Given the description of an element on the screen output the (x, y) to click on. 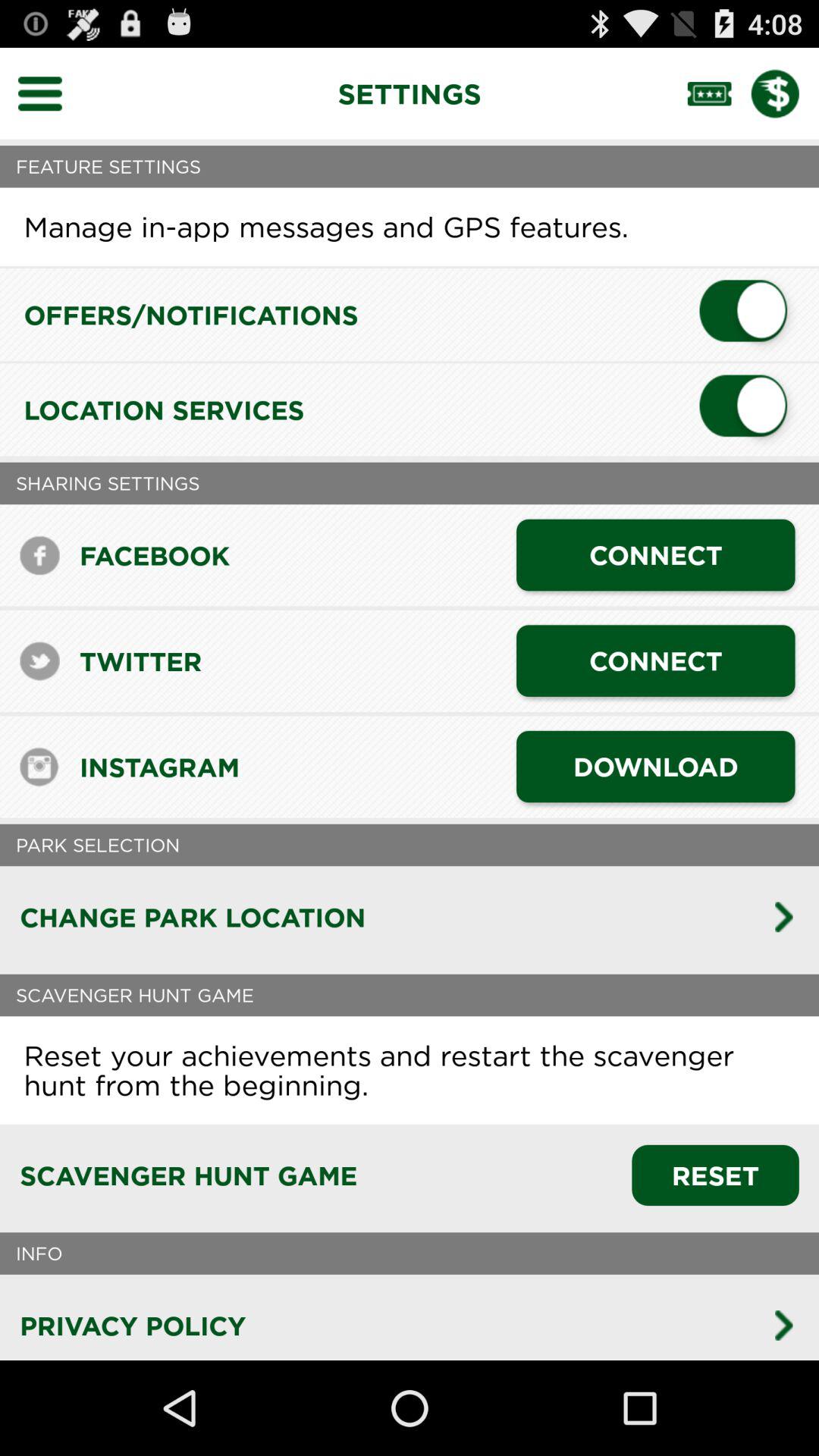
main menu options (49, 93)
